Given the description of an element on the screen output the (x, y) to click on. 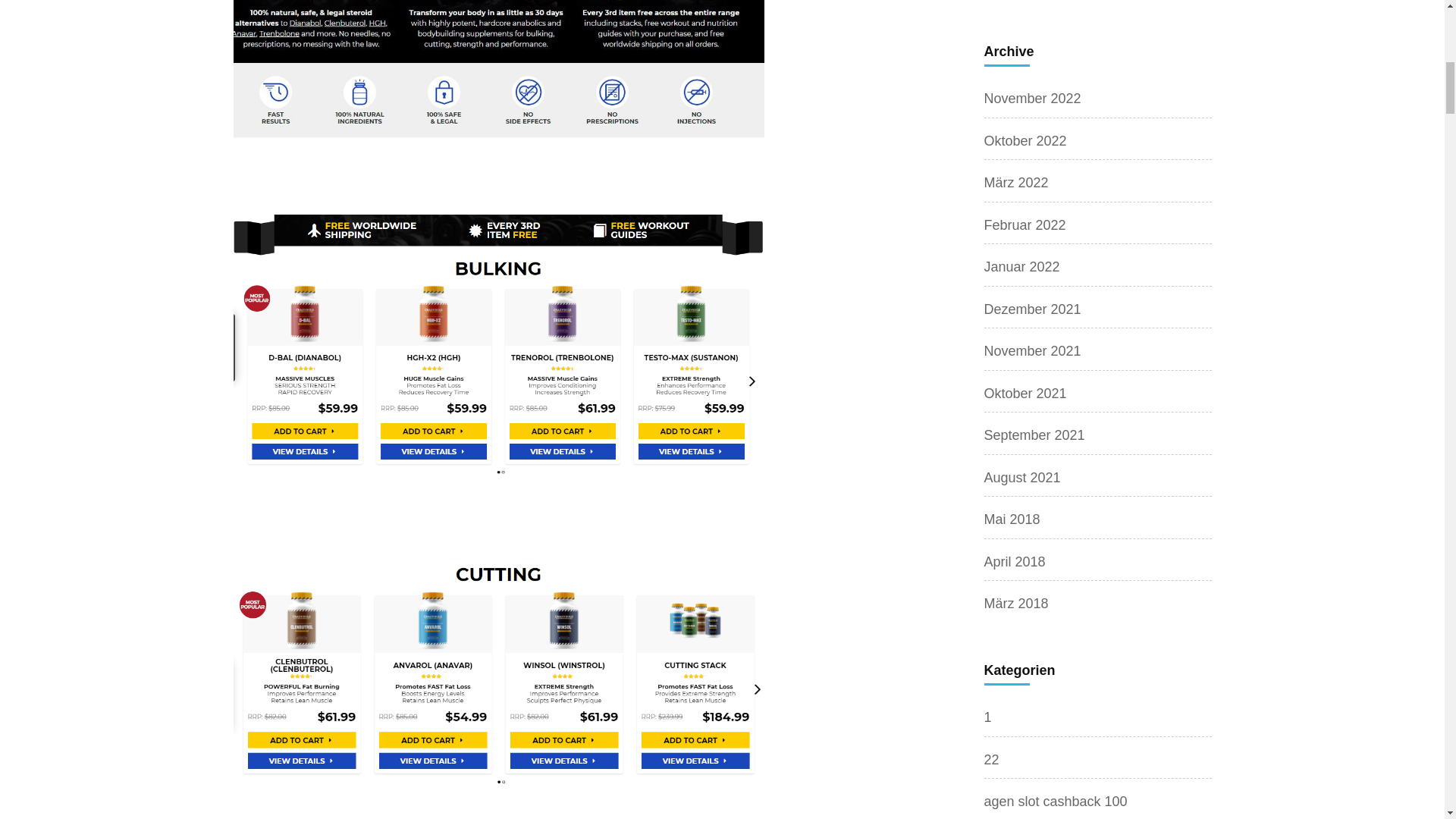
Testo max hd website (498, 672)
Testo max hd website (498, 69)
22 (991, 759)
agen slot cashback 100 (1055, 801)
